Given the description of an element on the screen output the (x, y) to click on. 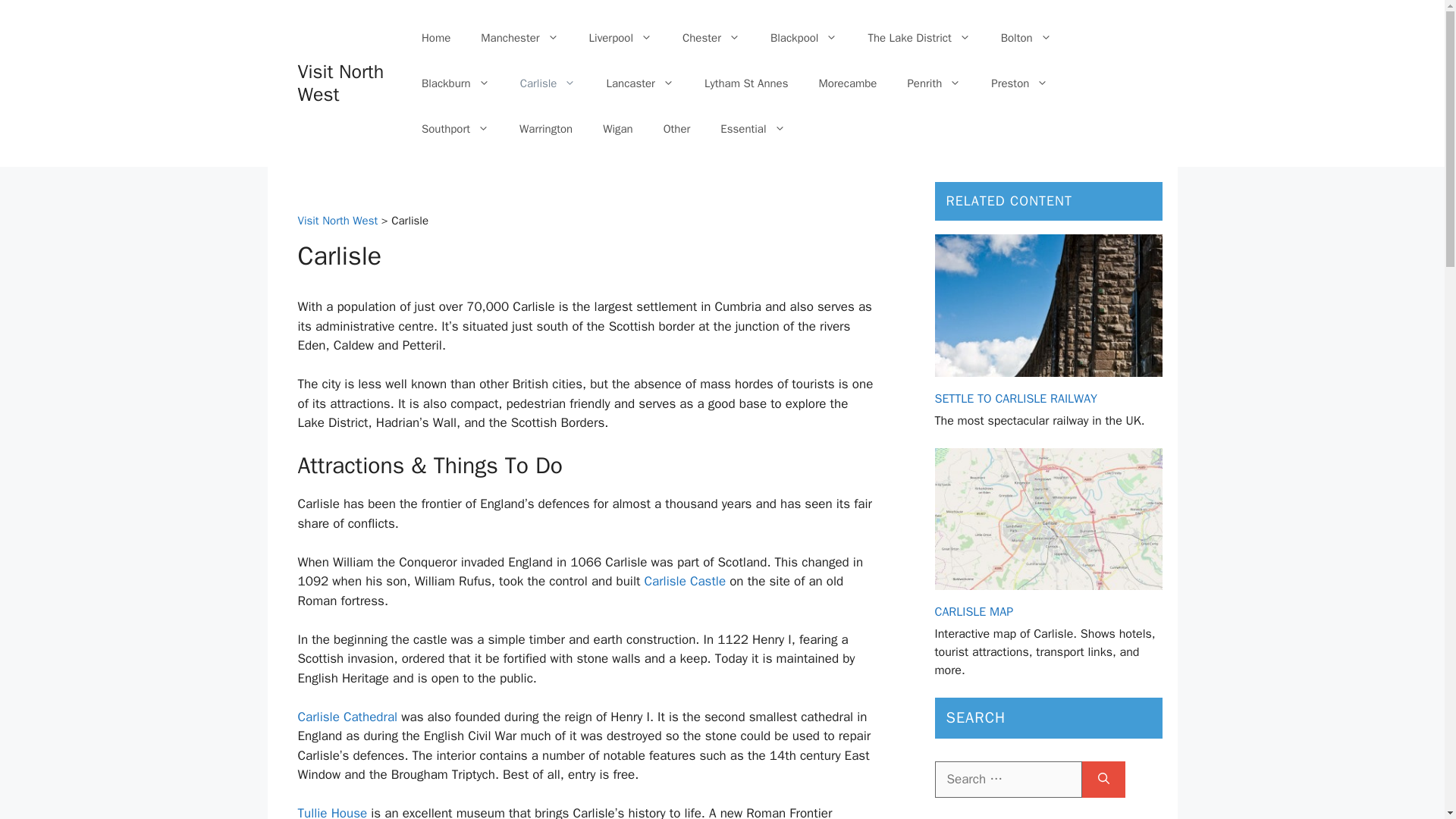
Go to Visit North West. (337, 220)
Carlisle (548, 83)
Blackburn (455, 83)
Carlisle Cathedral (347, 716)
Lancaster (639, 83)
Visit North West (340, 82)
Carlisle Castle (685, 580)
Liverpool (619, 37)
Chester (710, 37)
Manchester (519, 37)
